Given the description of an element on the screen output the (x, y) to click on. 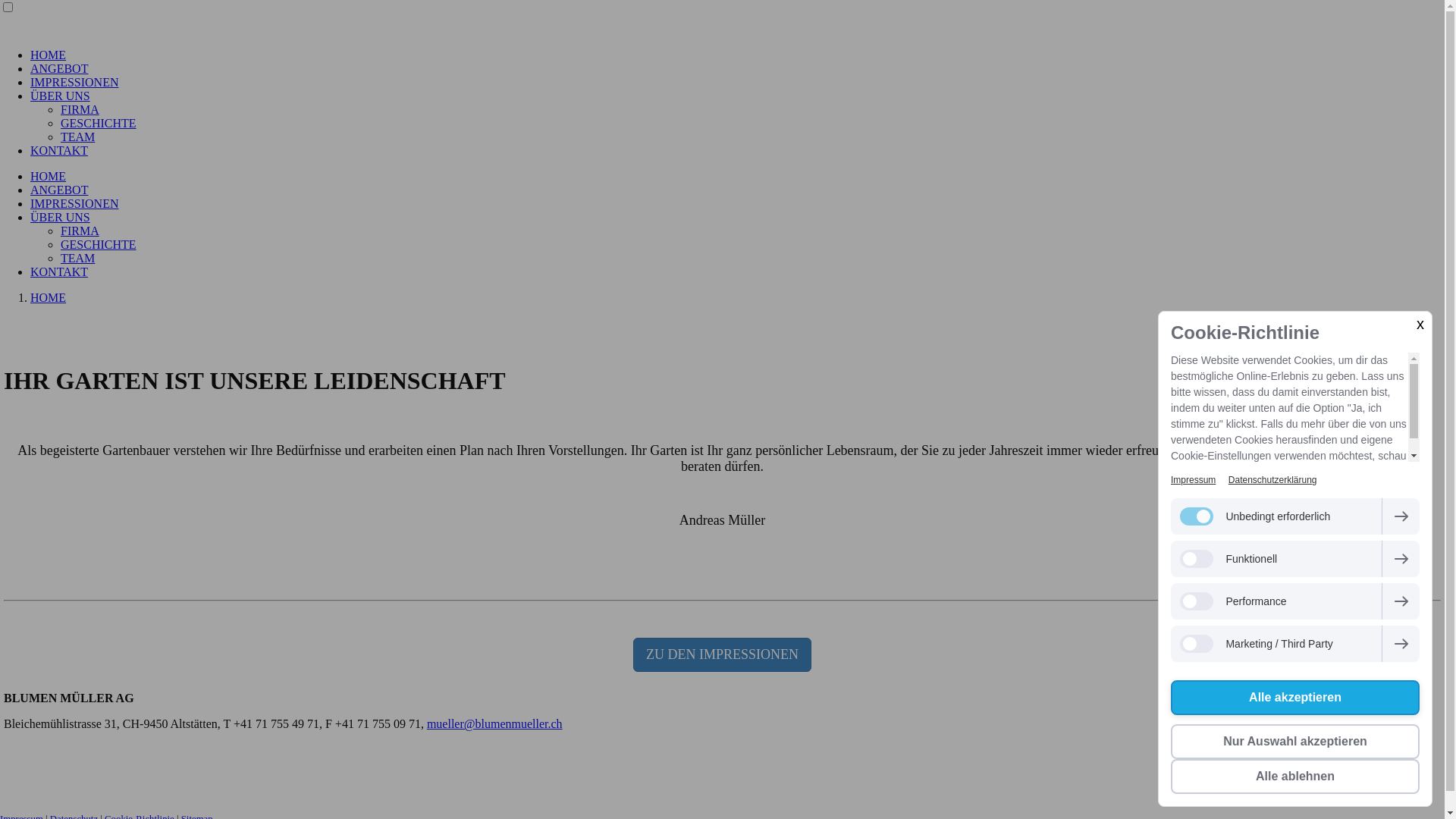
ANGEBOT Element type: text (58, 68)
FIRMA Element type: text (79, 230)
HOME Element type: text (47, 297)
Nur Auswahl akzeptieren Element type: text (1294, 741)
HOME Element type: text (47, 175)
TEAM Element type: text (77, 136)
IMPRESSIONEN Element type: text (74, 203)
Alle ablehnen Element type: text (1294, 776)
TEAM Element type: text (77, 257)
HOME Element type: text (47, 54)
ZU DEN IMPRESSIONEN Element type: text (722, 654)
FIRMA Element type: text (79, 109)
ANGEBOT Element type: text (58, 189)
GESCHICHTE Element type: text (98, 244)
IMPRESSIONEN Element type: text (74, 81)
KONTAKT Element type: text (58, 150)
mueller@blumenmueller.ch Element type: text (494, 723)
KONTAKT Element type: text (58, 271)
GESCHICHTE Element type: text (98, 122)
Alle akzeptieren Element type: text (1294, 697)
Impressum Element type: text (1192, 479)
